Given the description of an element on the screen output the (x, y) to click on. 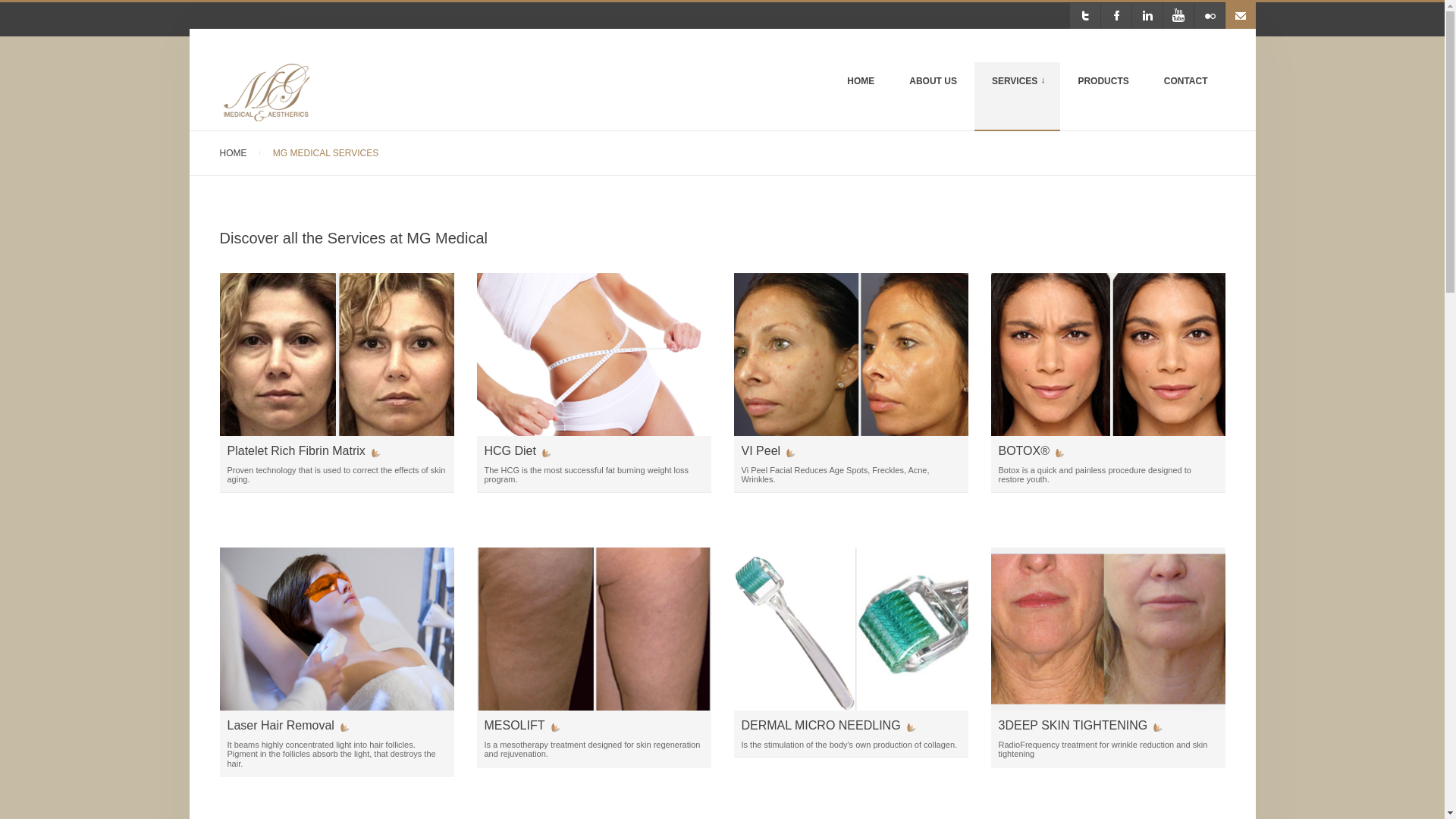
PRODUCTS (1102, 95)
HOME (860, 95)
3DEEP SKIN TIGHTENING (1079, 725)
DERMAL MICRO NEEDLING (828, 725)
Platelet Rich Fibrin Matrix (303, 450)
CONTACT (1186, 95)
Laser Hair Removal (288, 725)
HCG Diet (516, 450)
HOME (233, 153)
ABOUT US (932, 95)
MESOLIFT (521, 725)
VI Peel (768, 450)
